Given the description of an element on the screen output the (x, y) to click on. 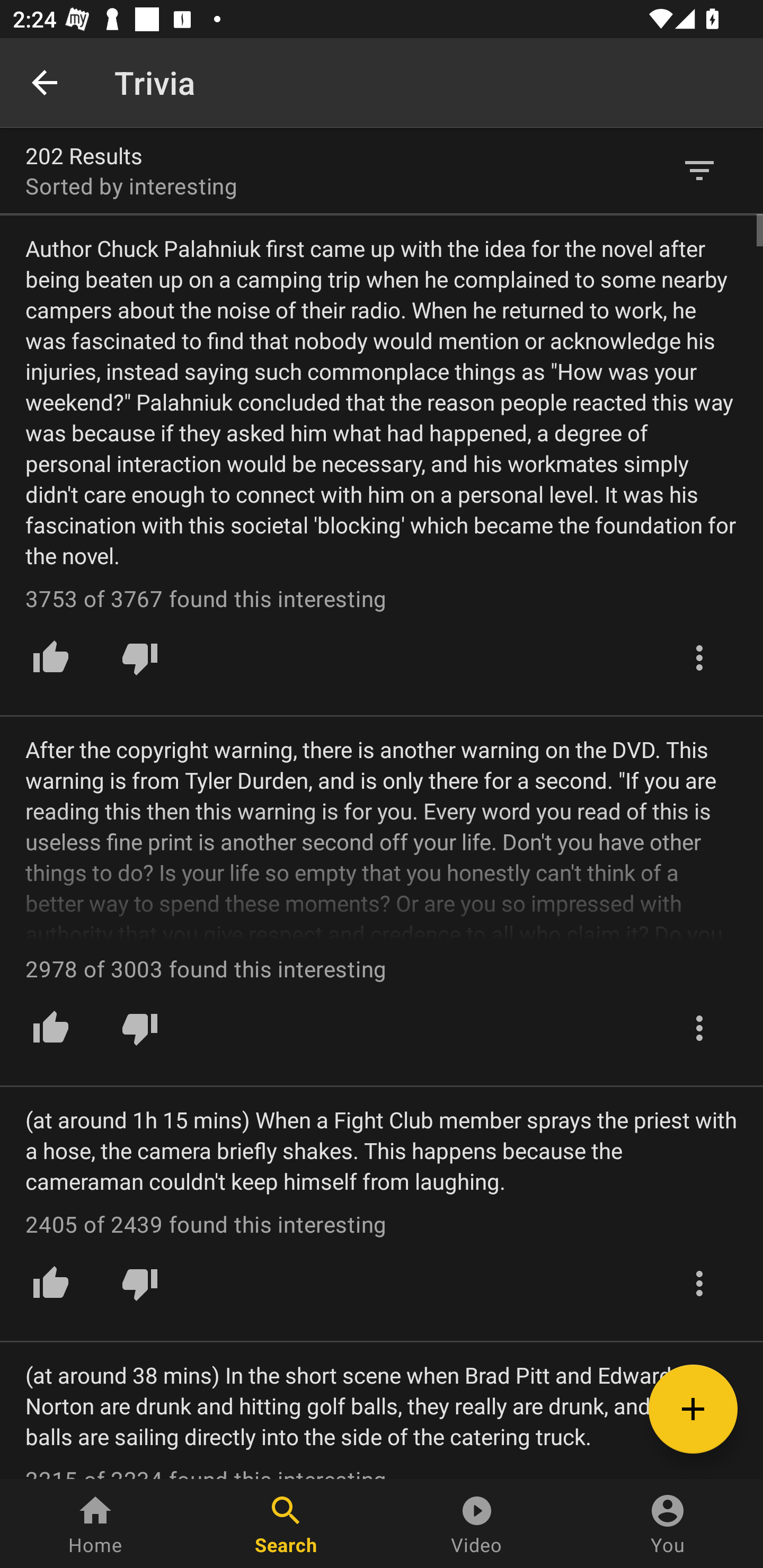
Home (95, 1523)
Video (476, 1523)
You (667, 1523)
